Given the description of an element on the screen output the (x, y) to click on. 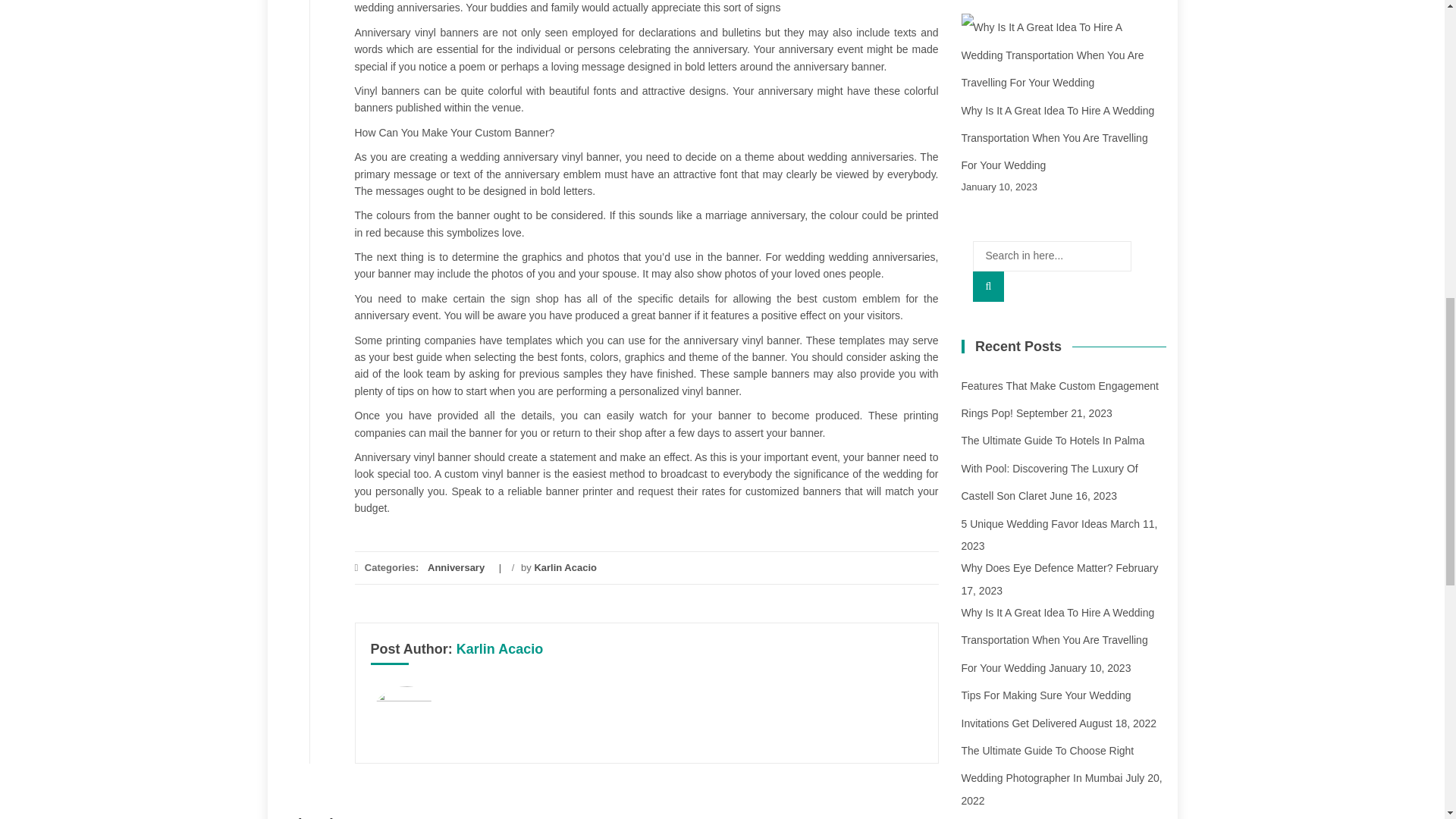
Anniversary (456, 567)
Search for: (1051, 255)
Karlin Acacio (500, 648)
Search (988, 286)
Karlin Acacio (565, 567)
